Given the description of an element on the screen output the (x, y) to click on. 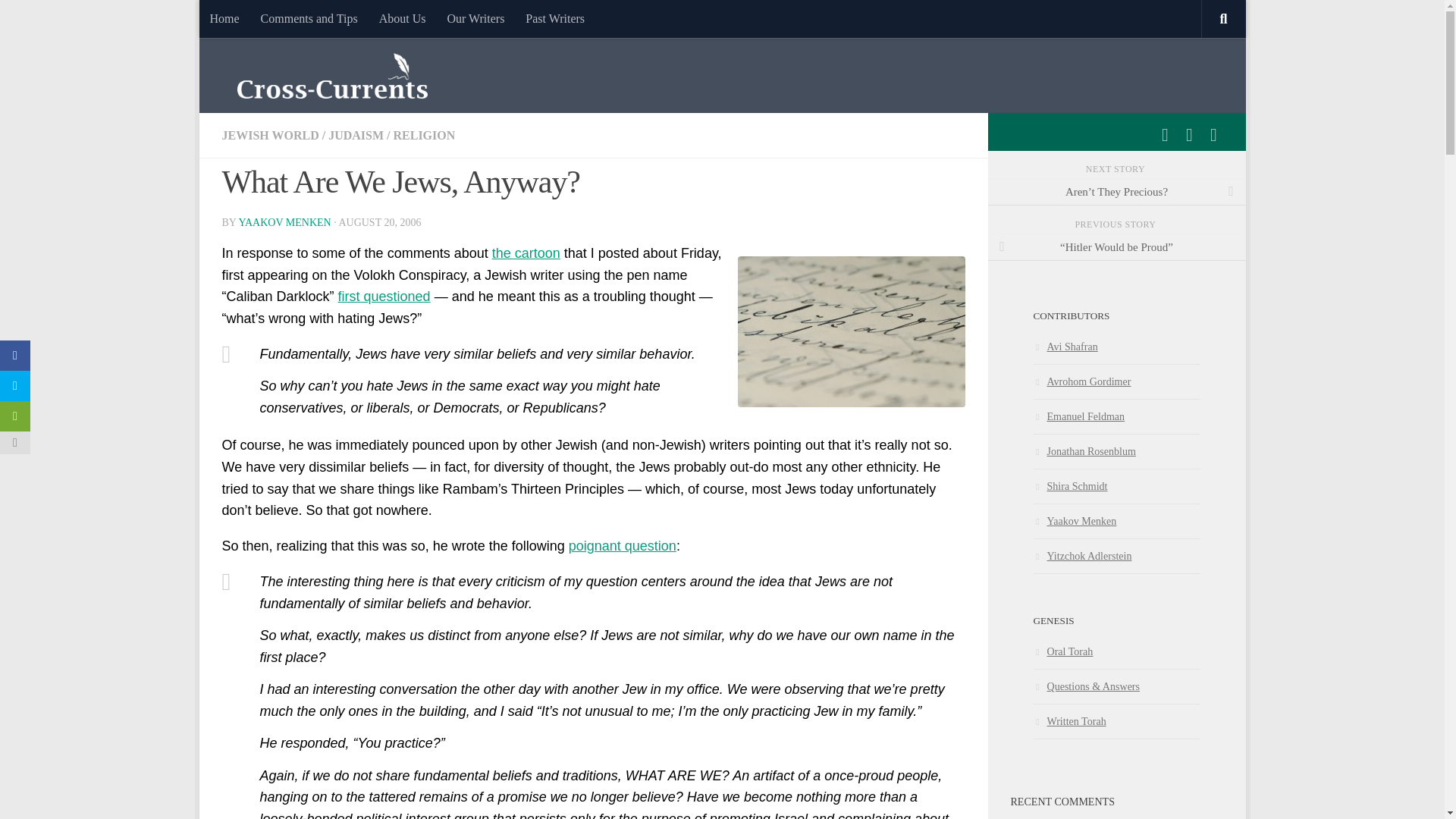
JEWISH WORLD (269, 134)
Yaakov Menken (1074, 521)
Follow us on Twitter (1188, 135)
YAAKOV MENKEN (284, 222)
JUDAISM (356, 134)
Skip to content (258, 20)
Comments and Tips (309, 18)
first questioned (383, 296)
RELIGION (423, 134)
Past Writers (555, 18)
